Given the description of an element on the screen output the (x, y) to click on. 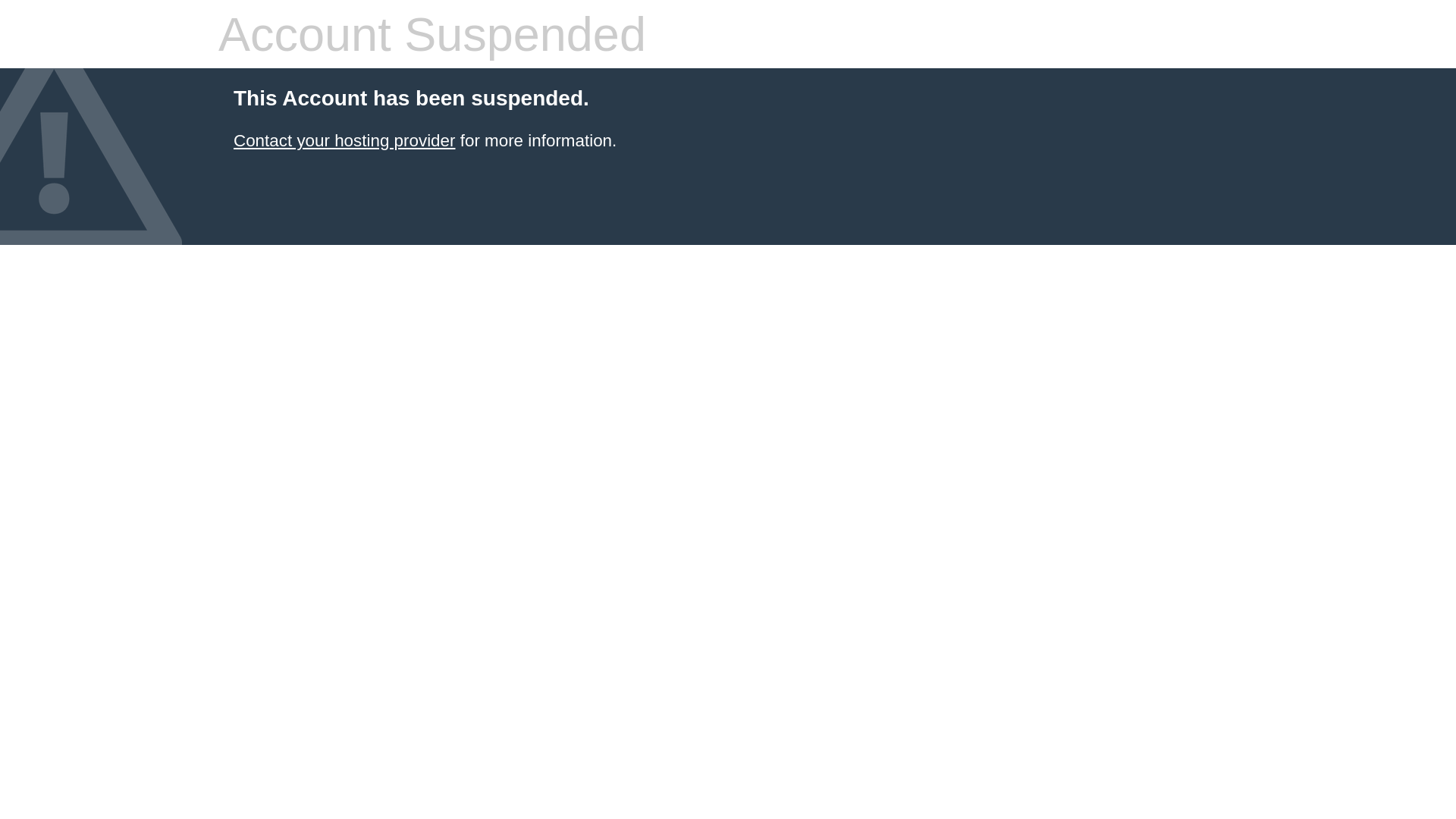
Contact your hosting provider Element type: text (344, 140)
